Given the description of an element on the screen output the (x, y) to click on. 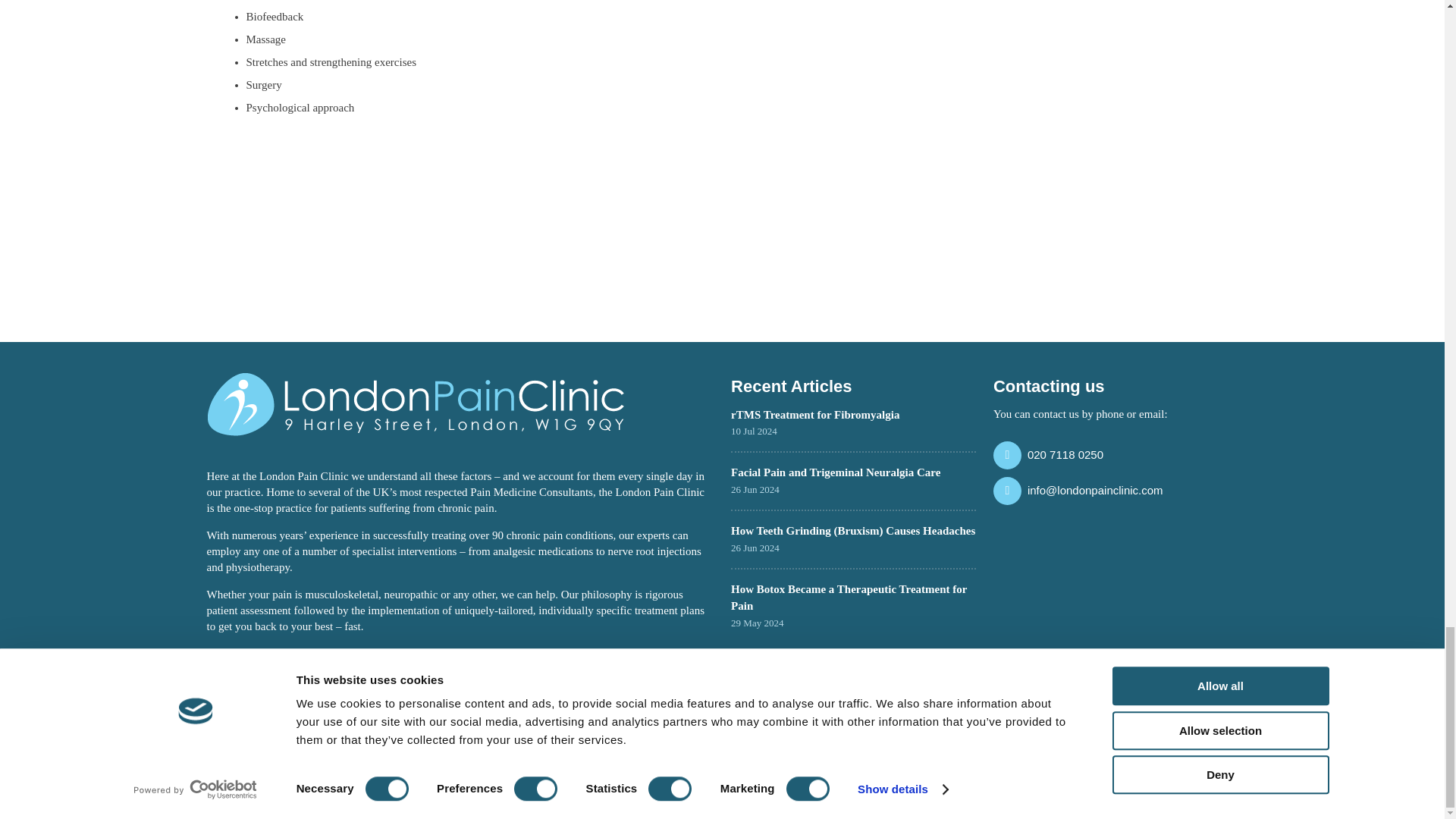
Facial Pain and Trigeminal Neuralgia Care (835, 472)
How Botox Became a Therapeutic Treatment for Pain (848, 597)
rTMS Treatment for Fibromyalgia (814, 414)
